Given the description of an element on the screen output the (x, y) to click on. 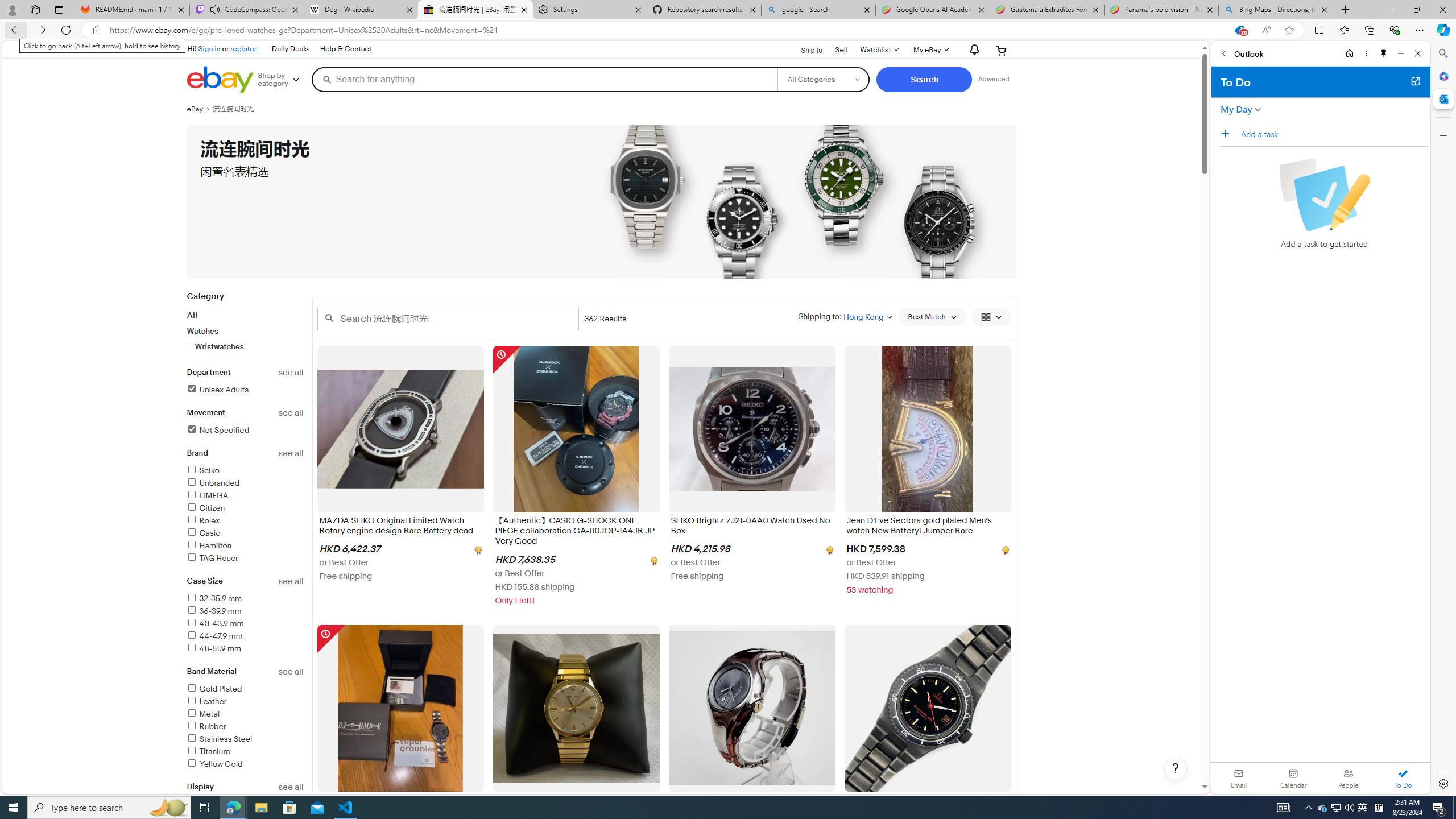
Shipping to: Hong Kong (845, 316)
google - Search (818, 9)
32-35.9 mm (213, 598)
Unisex Adults Filter Applied (217, 389)
This site has coupons! Shopping in Microsoft Edge, 20 (1239, 29)
eBay Home (219, 79)
Shop by category (282, 79)
Help & Contact (345, 49)
